Given the description of an element on the screen output the (x, y) to click on. 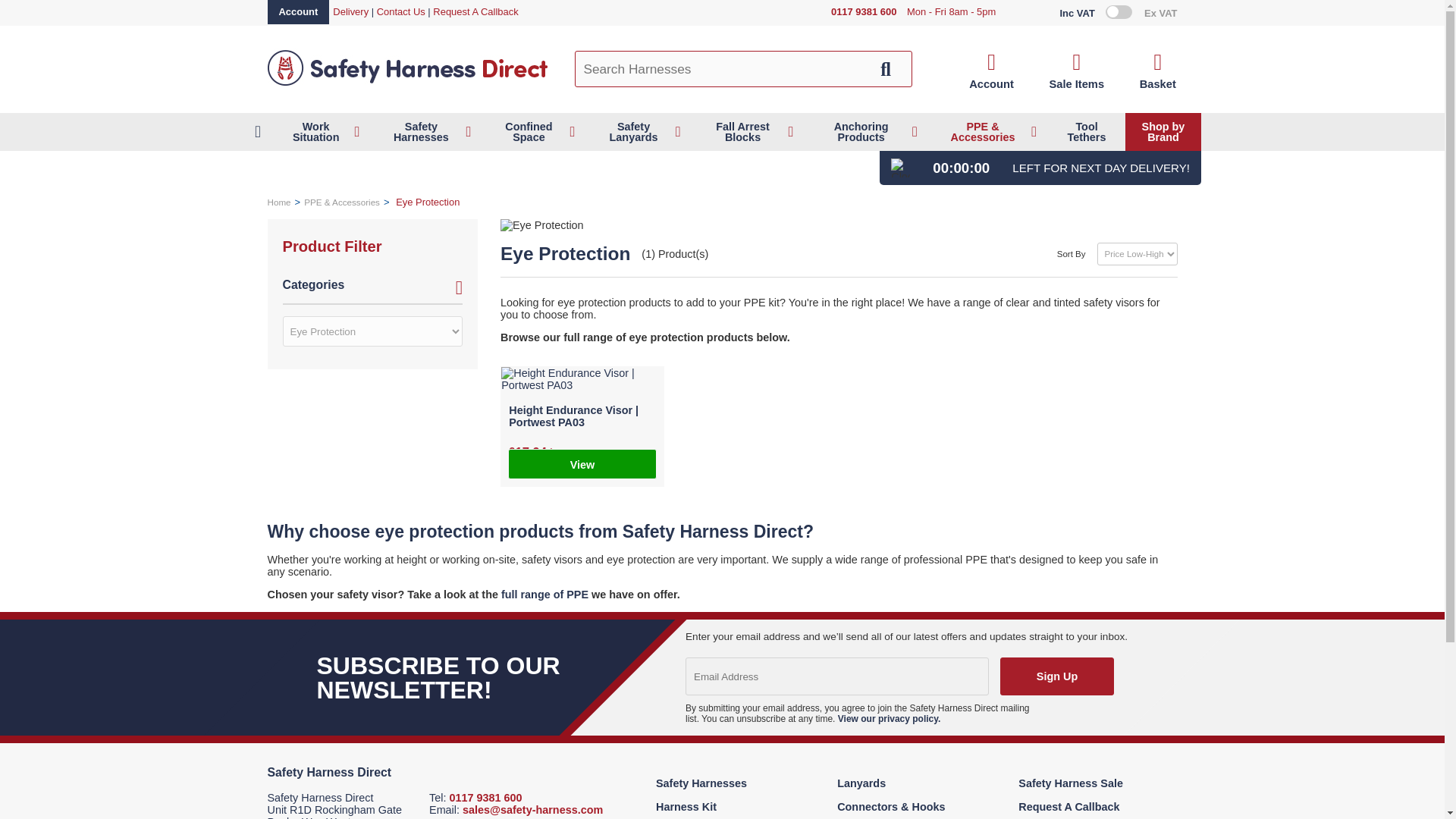
Work Situation (321, 131)
Safety Harnesses (426, 131)
Account (991, 70)
Contact Us (401, 11)
Work Situation (321, 131)
Request A Callback (475, 11)
call us today on 0117 9381 600 (863, 12)
Sale Items (1075, 70)
Delivery (350, 11)
Delivery (350, 11)
